Given the description of an element on the screen output the (x, y) to click on. 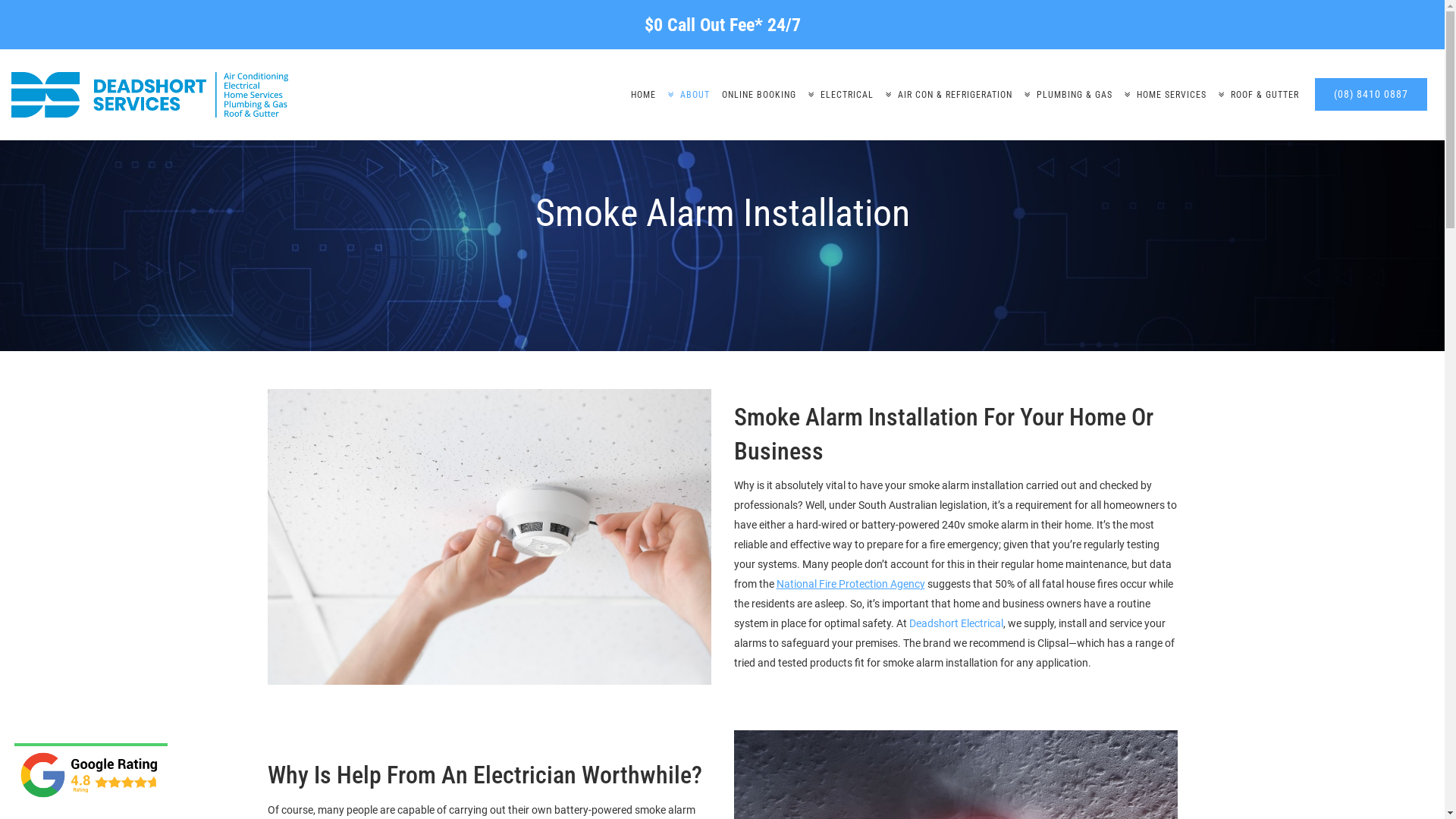
Deadshort Electrical Element type: text (955, 623)
AIR CON & REFRIGERATION Element type: text (948, 94)
ABOUT Element type: text (688, 94)
(08) 8410 0887 Element type: text (1371, 94)
HOME SERVICES Element type: text (1165, 94)
(08) 8410 0887 Element type: text (1370, 94)
ROOF & GUTTER Element type: text (1258, 94)
National Fire Protection Agency Element type: text (850, 583)
smoke alarm installation-001 Element type: hover (488, 536)
PLUMBING & GAS Element type: text (1068, 94)
HOME Element type: text (643, 94)
ONLINE BOOKING Element type: text (758, 94)
ELECTRICAL Element type: text (840, 94)
google_graphic_new-01 Element type: hover (90, 774)
